Given the description of an element on the screen output the (x, y) to click on. 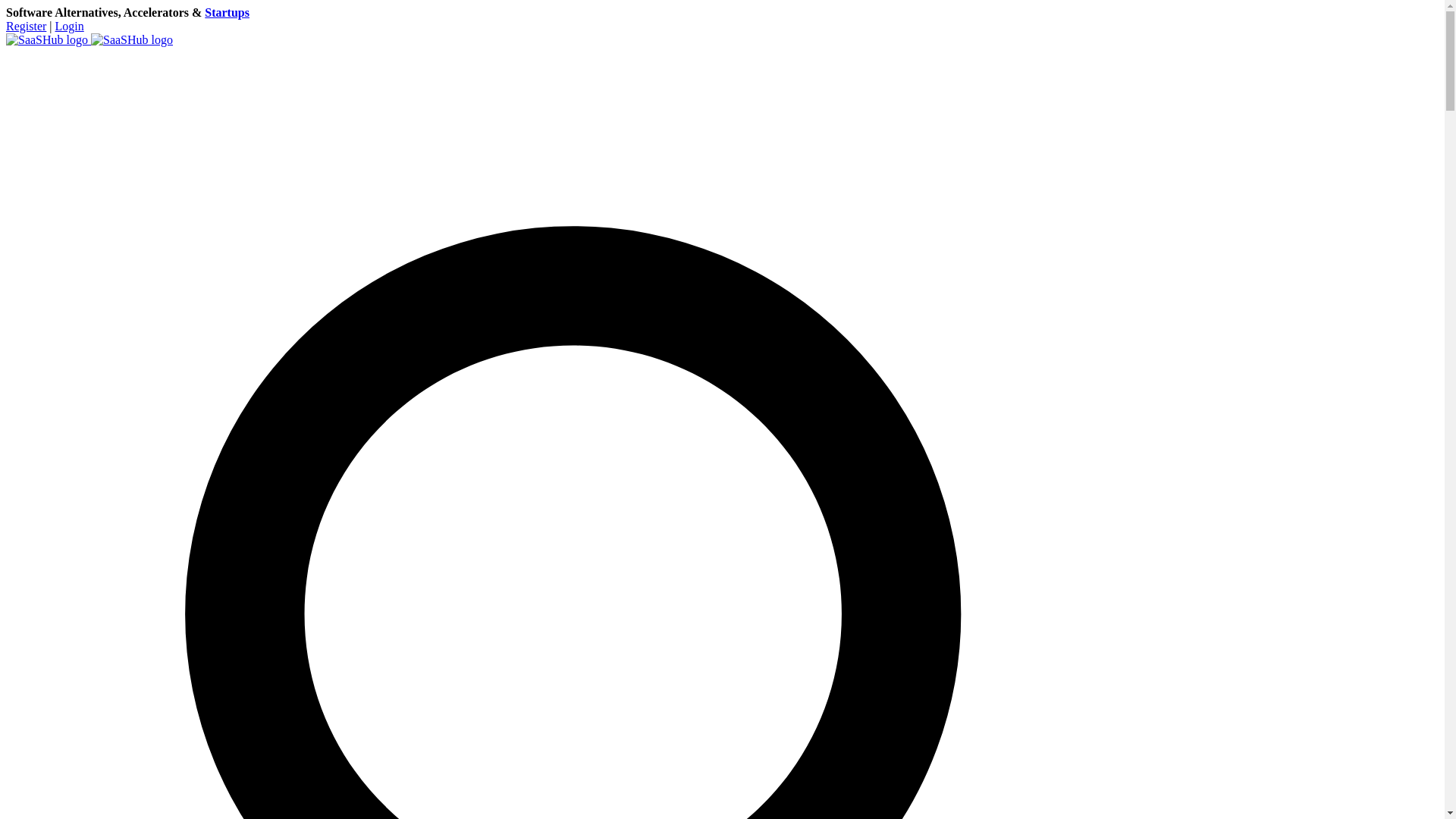
Login (69, 25)
Startups (226, 11)
Register (25, 25)
